Given the description of an element on the screen output the (x, y) to click on. 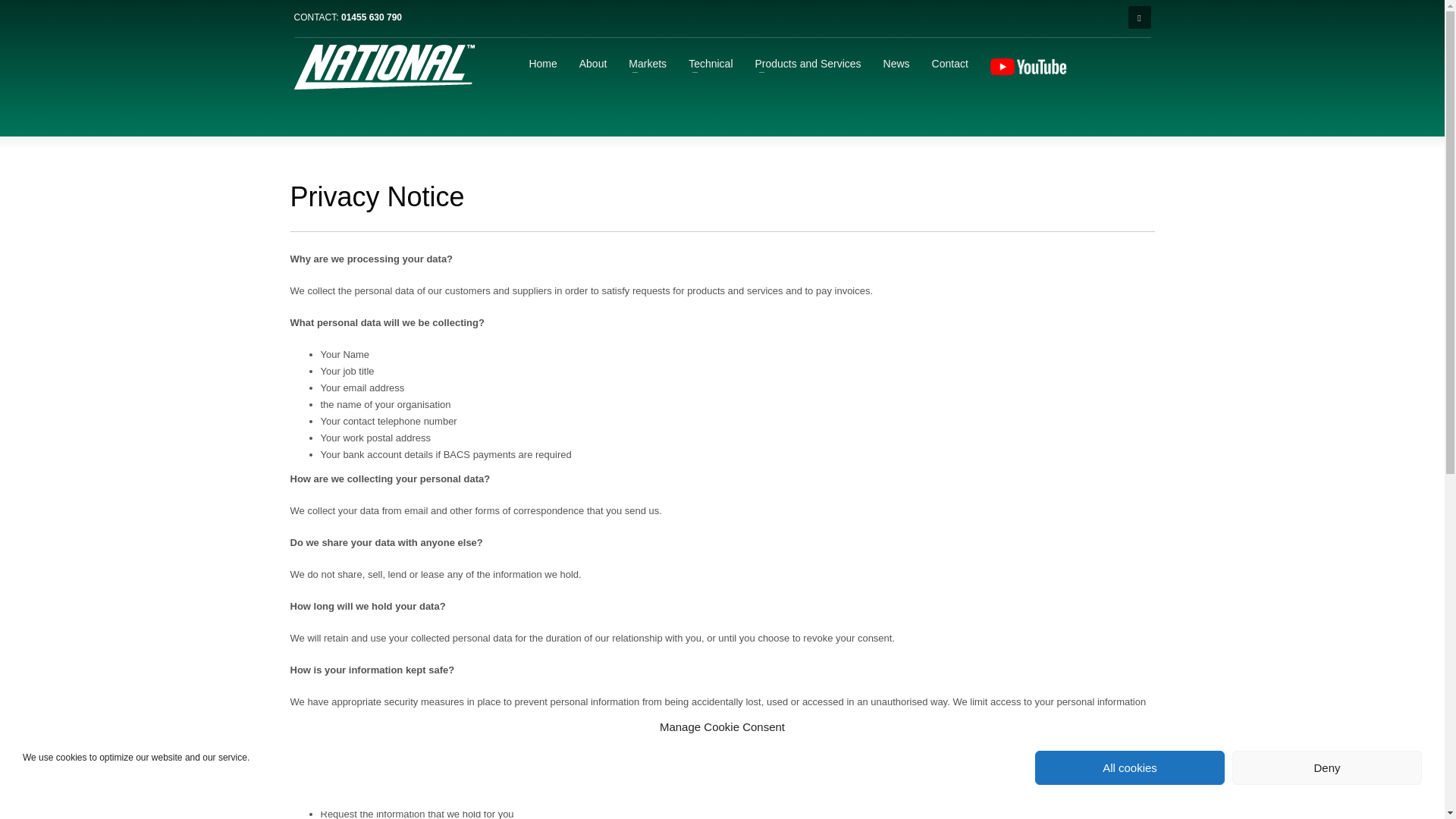
Deny (1326, 767)
Technical (710, 63)
Home (542, 63)
Markets (647, 63)
01455 630 790 (370, 17)
About (592, 63)
Products and Services (807, 63)
All cookies (1129, 767)
